Given the description of an element on the screen output the (x, y) to click on. 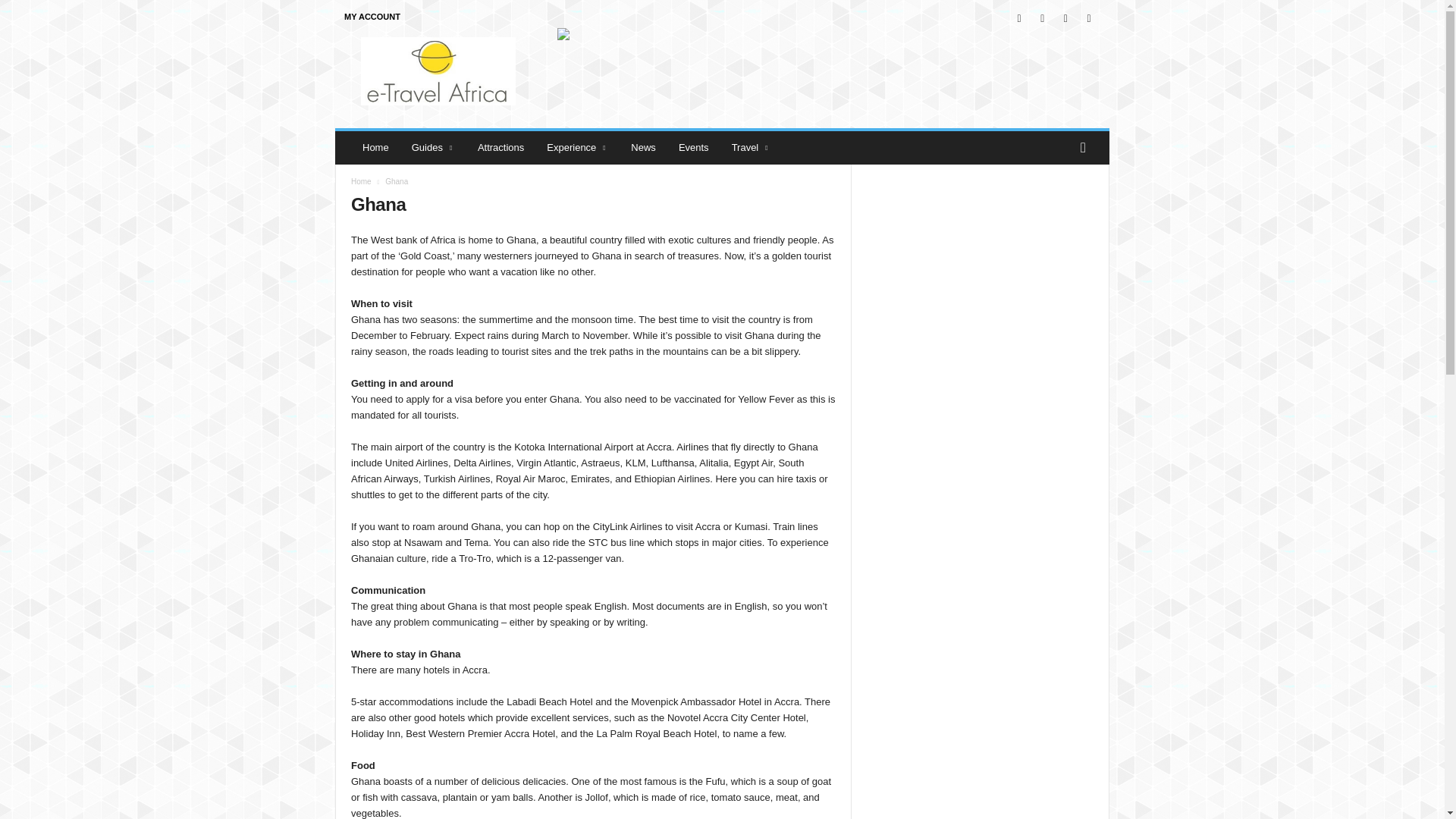
Youtube (1088, 18)
Home (375, 147)
Twitter (1065, 18)
Instagram (1042, 18)
Facebook (1018, 18)
eTravel Africa (437, 70)
Guides (432, 147)
